Given the description of an element on the screen output the (x, y) to click on. 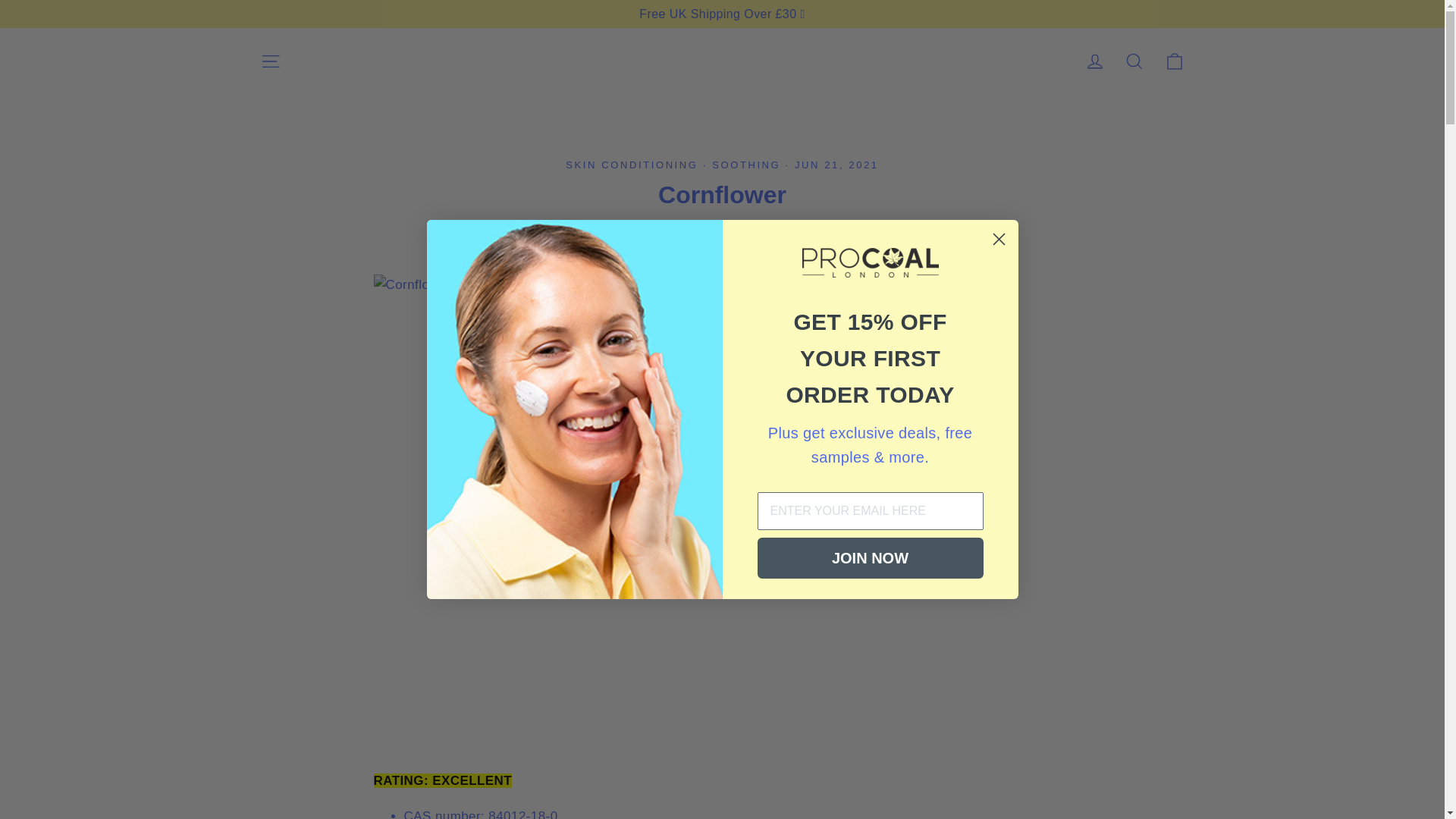
Log in (1095, 61)
Site navigation (269, 61)
